Given the description of an element on the screen output the (x, y) to click on. 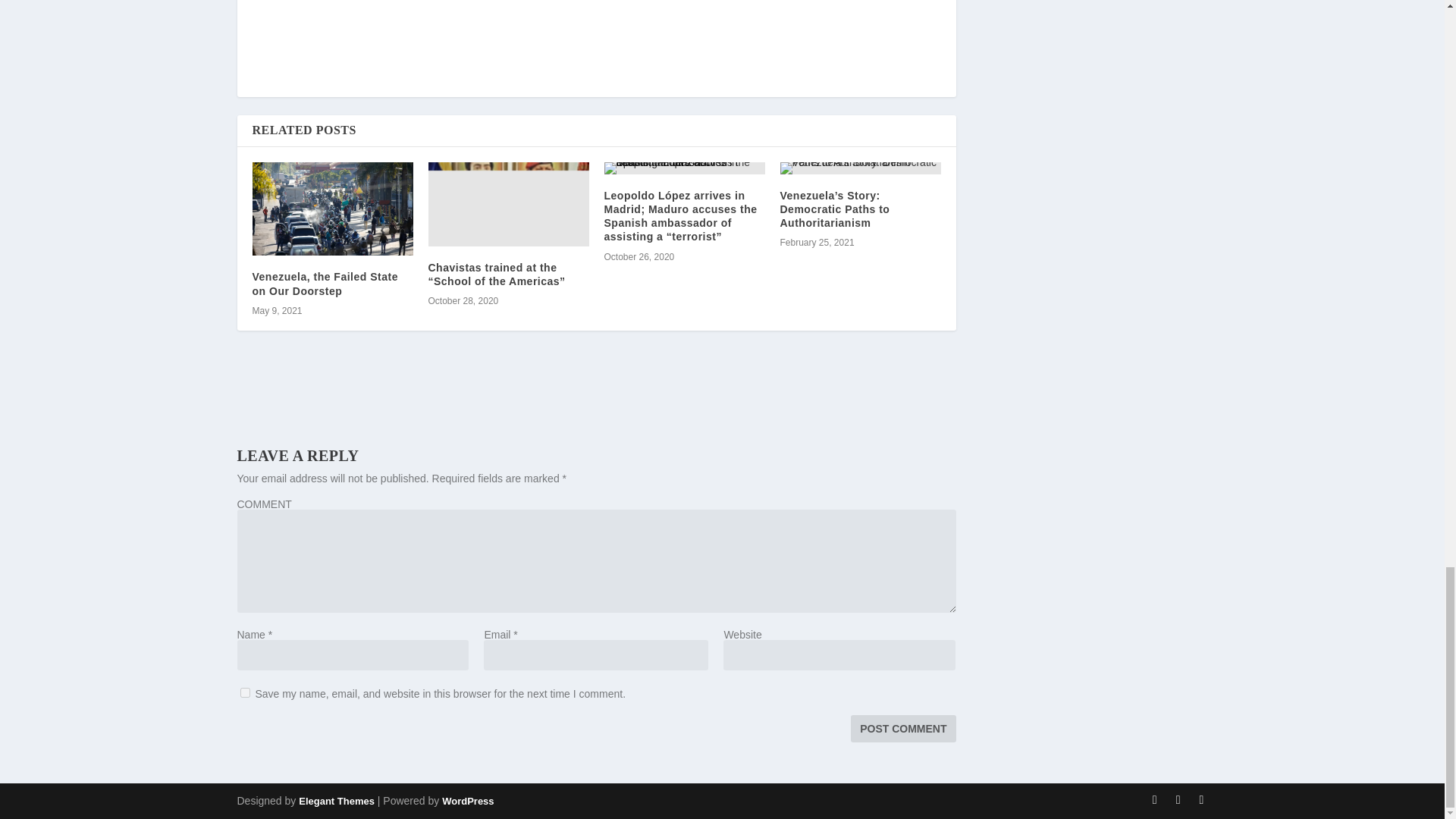
Post Comment (902, 728)
yes (244, 692)
Venezuela, the Failed State on Our Doorstep (331, 209)
Post Comment (902, 728)
Venezuela, the Failed State on Our Doorstep (324, 283)
Elegant Themes (336, 800)
WordPress (467, 800)
